Given the description of an element on the screen output the (x, y) to click on. 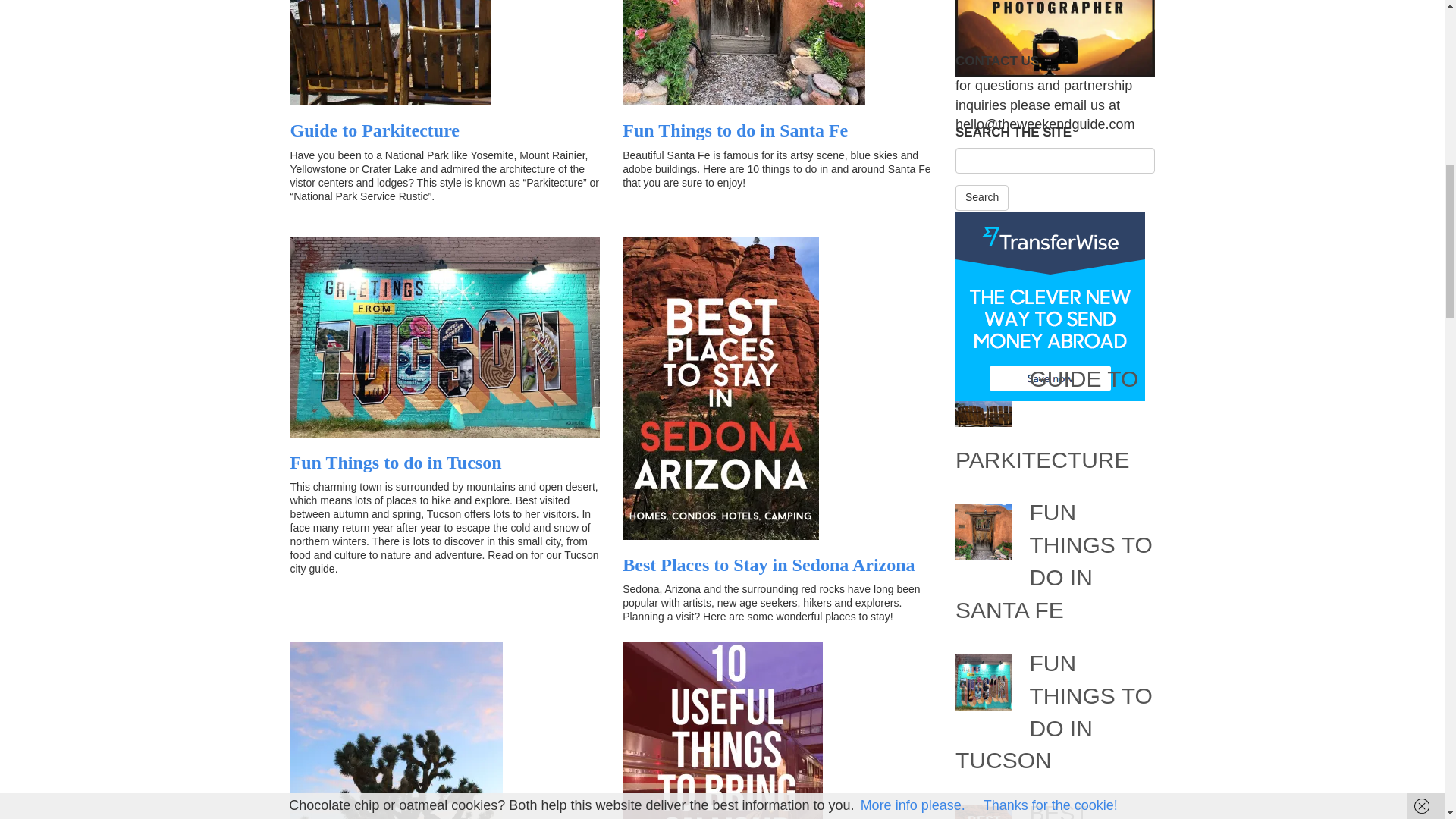
Fun Things to do in Tucson (394, 462)
Fun Things to do in Tucson (394, 462)
Best Places to Stay in Sedona Arizona (768, 564)
Guide to Parkitecture (374, 130)
Best Places to Stay in Sedona Arizona (768, 564)
Fun Things to do in Santa Fe (735, 130)
Guide to Parkitecture (374, 130)
Fun Things to do in Santa Fe (735, 130)
